Given the description of an element on the screen output the (x, y) to click on. 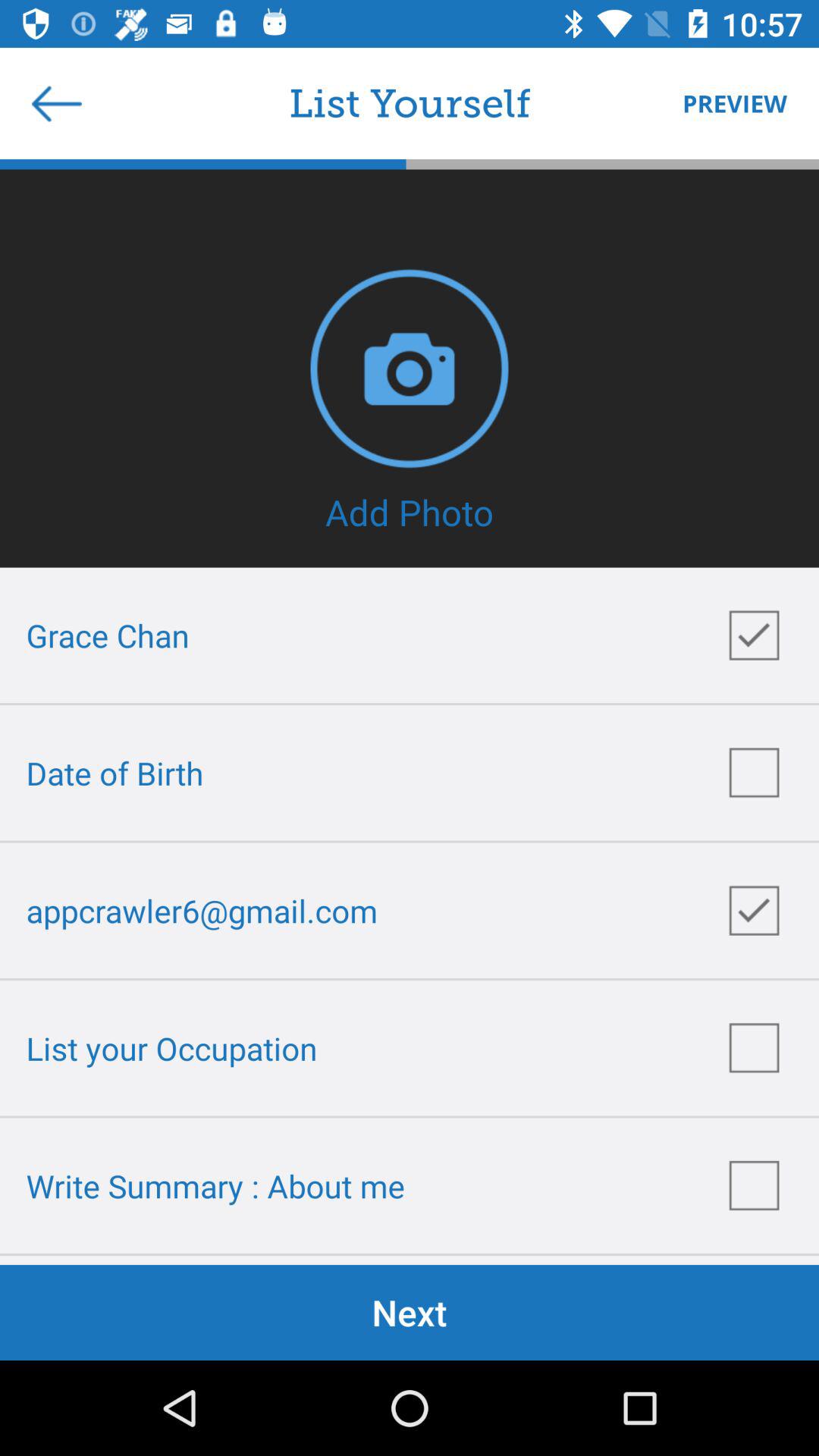
flip until the next item (409, 1312)
